Given the description of an element on the screen output the (x, y) to click on. 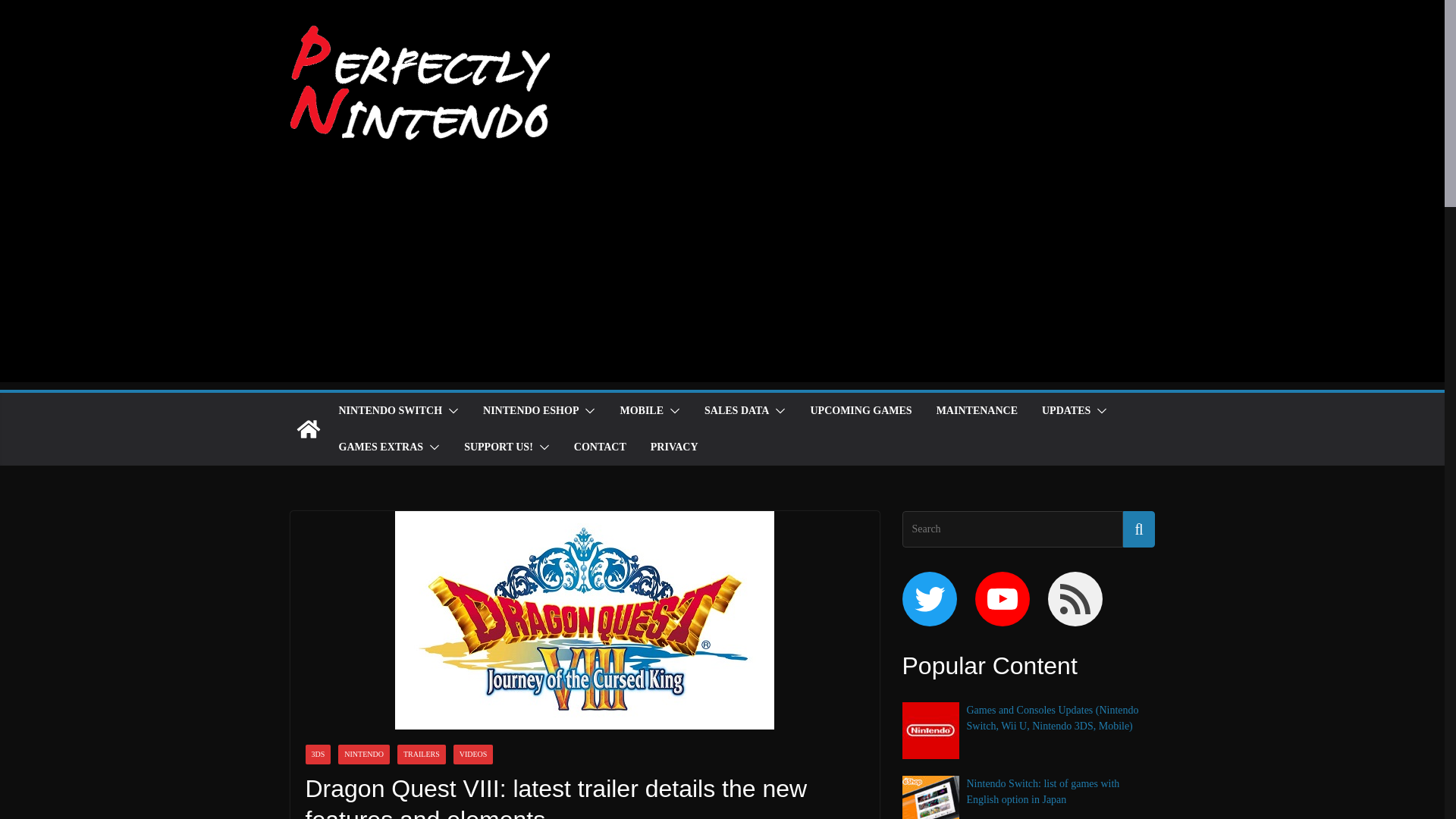
UPDATES (1066, 410)
Perfectly Nintendo (307, 429)
SALES DATA (736, 410)
NINTENDO SWITCH (389, 410)
GAMES EXTRAS (380, 446)
MAINTENANCE (976, 410)
MOBILE (641, 410)
UPCOMING GAMES (860, 410)
NINTENDO ESHOP (530, 410)
